Given the description of an element on the screen output the (x, y) to click on. 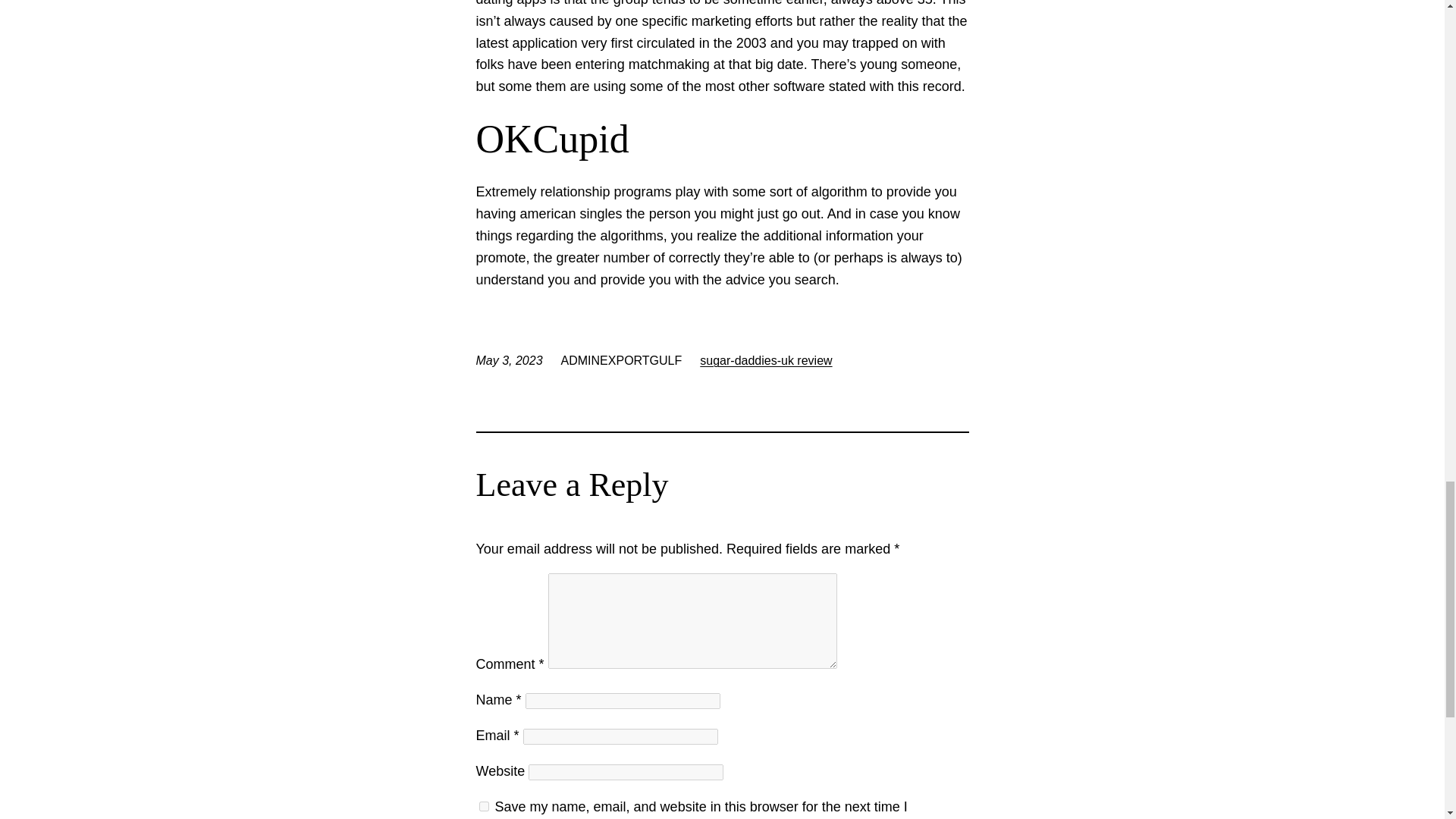
sugar-daddies-uk review (765, 359)
yes (484, 806)
